Given the description of an element on the screen output the (x, y) to click on. 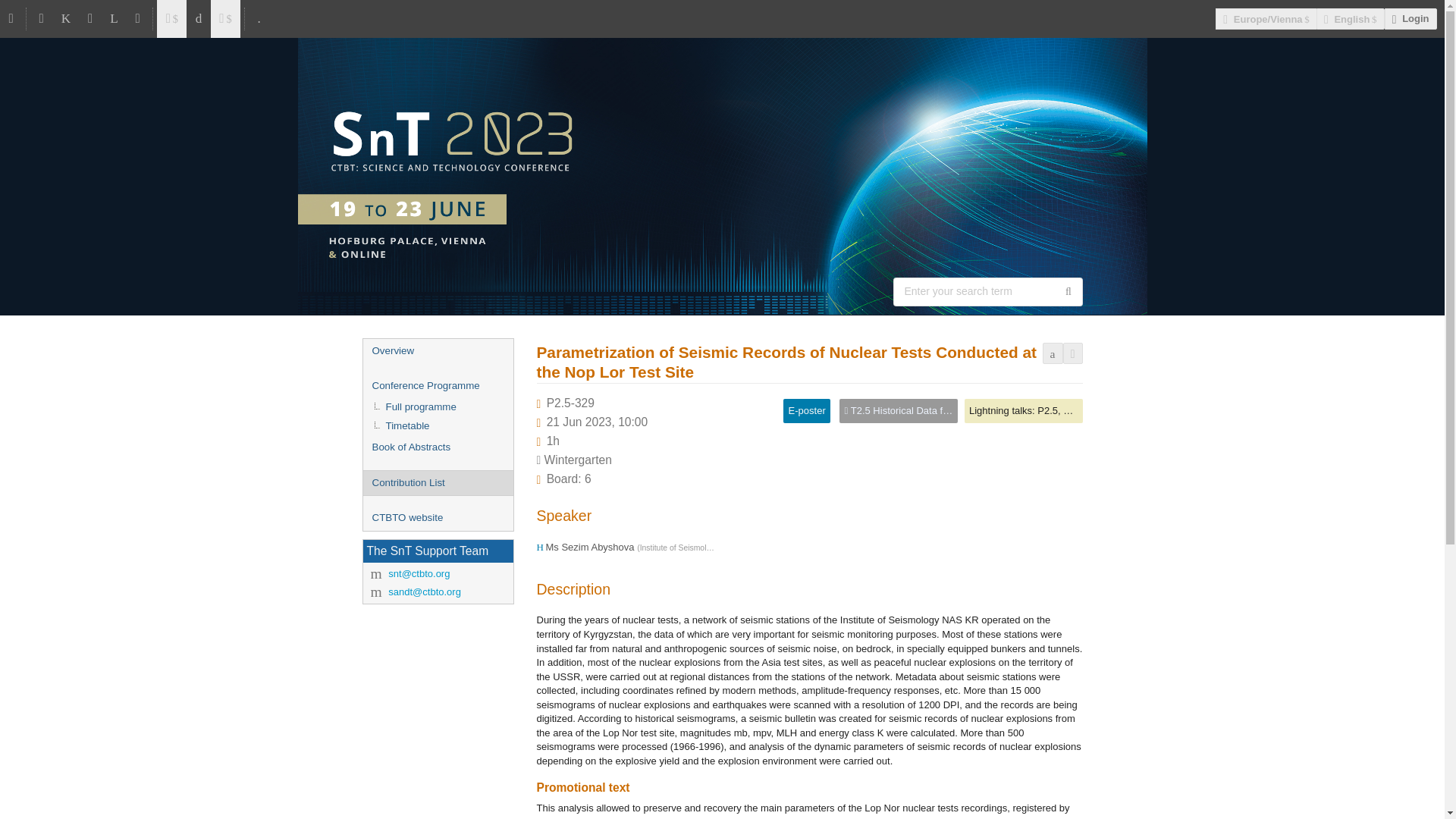
Export to PDF (1052, 353)
Book of Abstracts (437, 447)
Login (1410, 19)
Overview (437, 351)
CTBTO website (437, 518)
Export (1072, 353)
Duration (553, 440)
Full programme (437, 407)
Lightning talks: P2.5, P4.1, P4.2, P4.3 (1052, 410)
English (1350, 19)
Timetable (437, 425)
Conference Programme (437, 385)
Contribution List (437, 483)
